Given the description of an element on the screen output the (x, y) to click on. 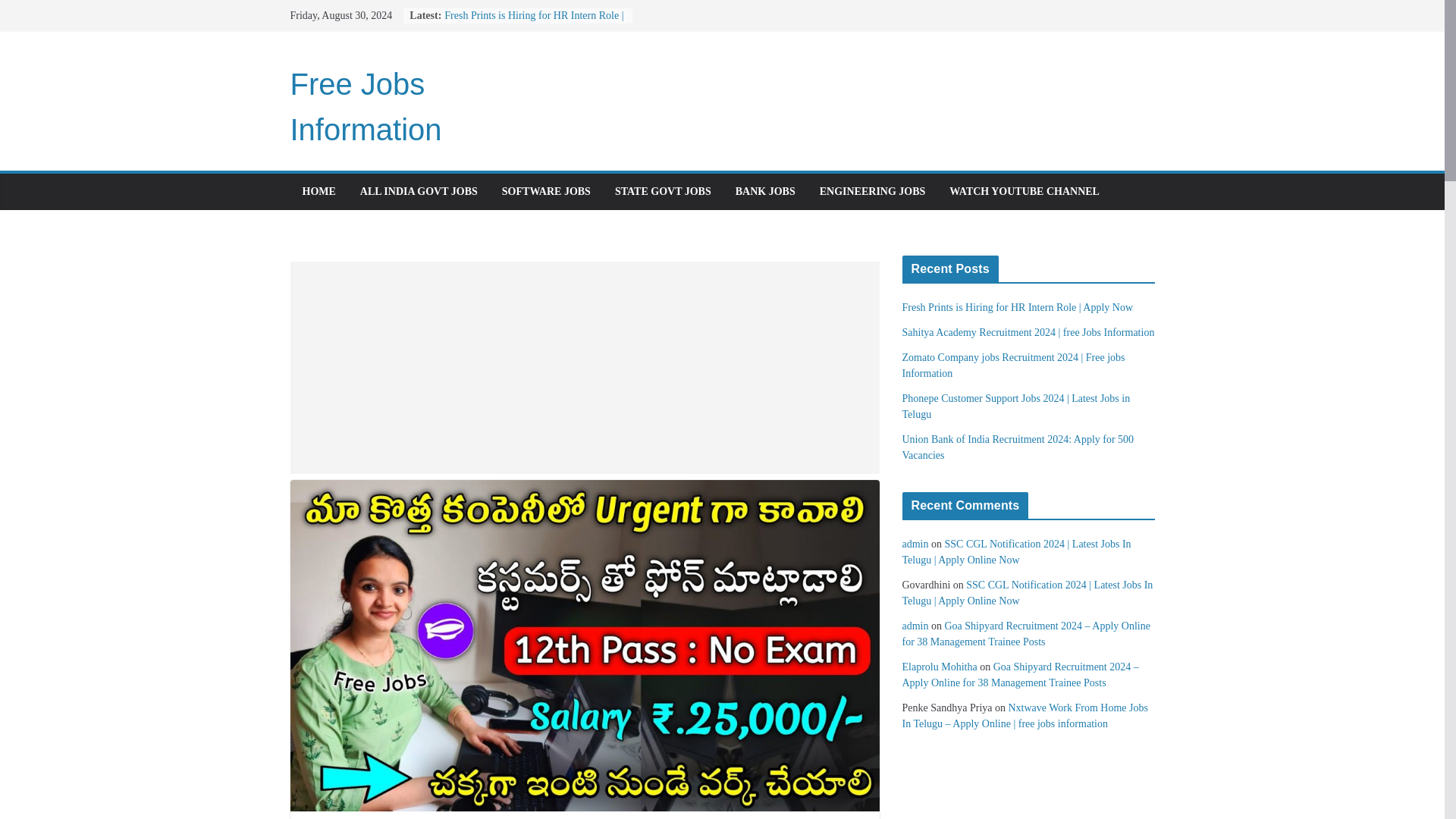
Advertisement (584, 367)
WATCH YOUTUBE CHANNEL (1024, 191)
admin (915, 543)
SOFTWARE JOBS (546, 191)
ALL INDIA GOVT JOBS (418, 191)
Elaprolu Mohitha (939, 666)
ENGINEERING JOBS (872, 191)
admin (915, 625)
STATE GOVT JOBS (662, 191)
BANK JOBS (764, 191)
